Given the description of an element on the screen output the (x, y) to click on. 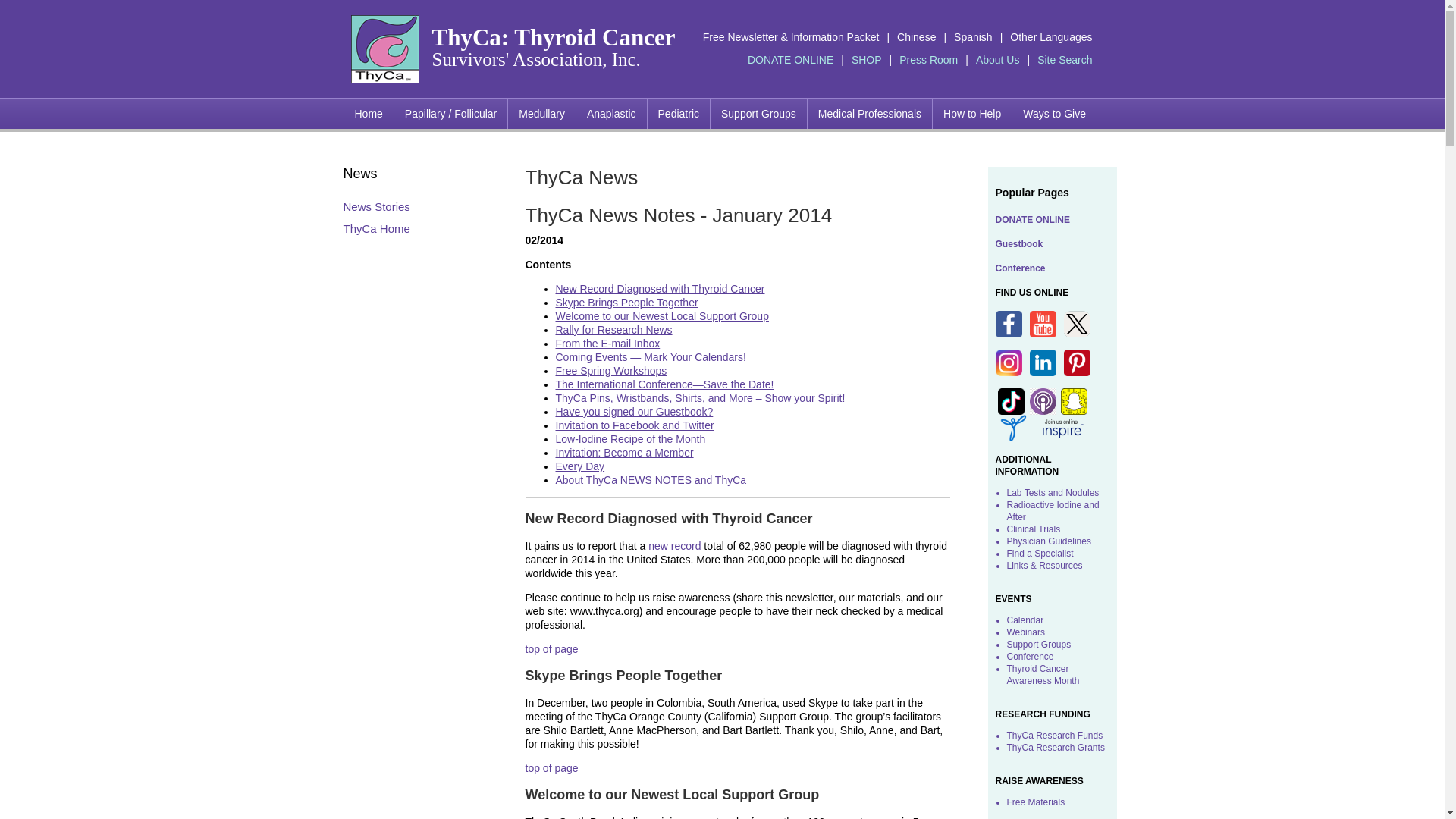
Have you signed our Guestbook? (633, 411)
top of page (551, 767)
About ThyCa NEWS NOTES and ThyCa (649, 480)
DONATE ONLINE (790, 60)
Anaplastic (610, 113)
Other Languages (1051, 37)
Every Day (579, 466)
Rally for Research News (612, 329)
Support Groups (758, 113)
top of page (551, 648)
Home (367, 113)
Low-Iodine Recipe of the Month (629, 439)
Skype Brings People Together (625, 302)
Chinese (916, 37)
New Record Diagnosed with Thyroid Cancer (659, 288)
